Given the description of an element on the screen output the (x, y) to click on. 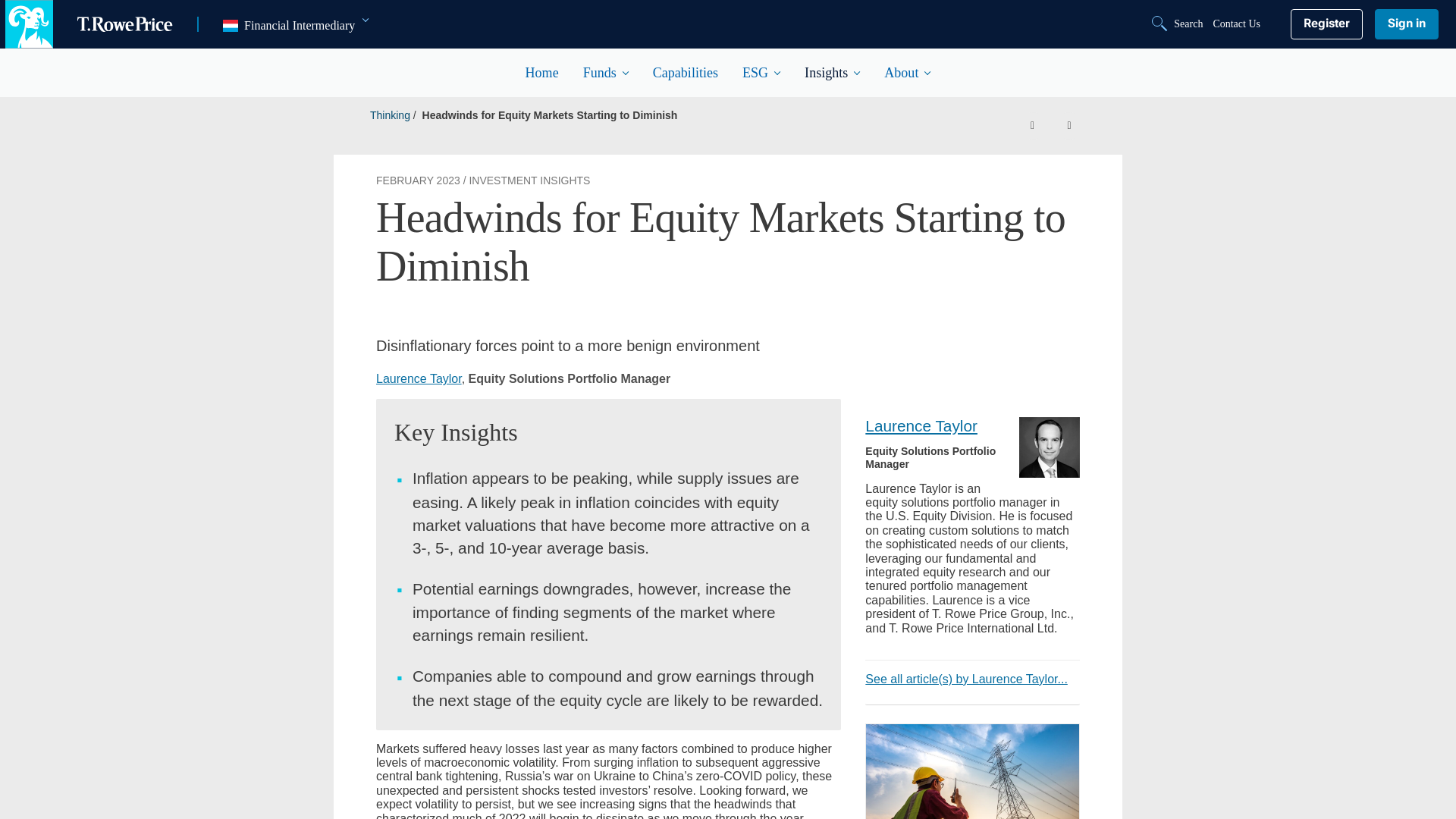
Register (1326, 24)
Contact Us (1236, 24)
Search (1179, 24)
Sign in (1406, 24)
Laurence Taylor (295, 25)
